Given the description of an element on the screen output the (x, y) to click on. 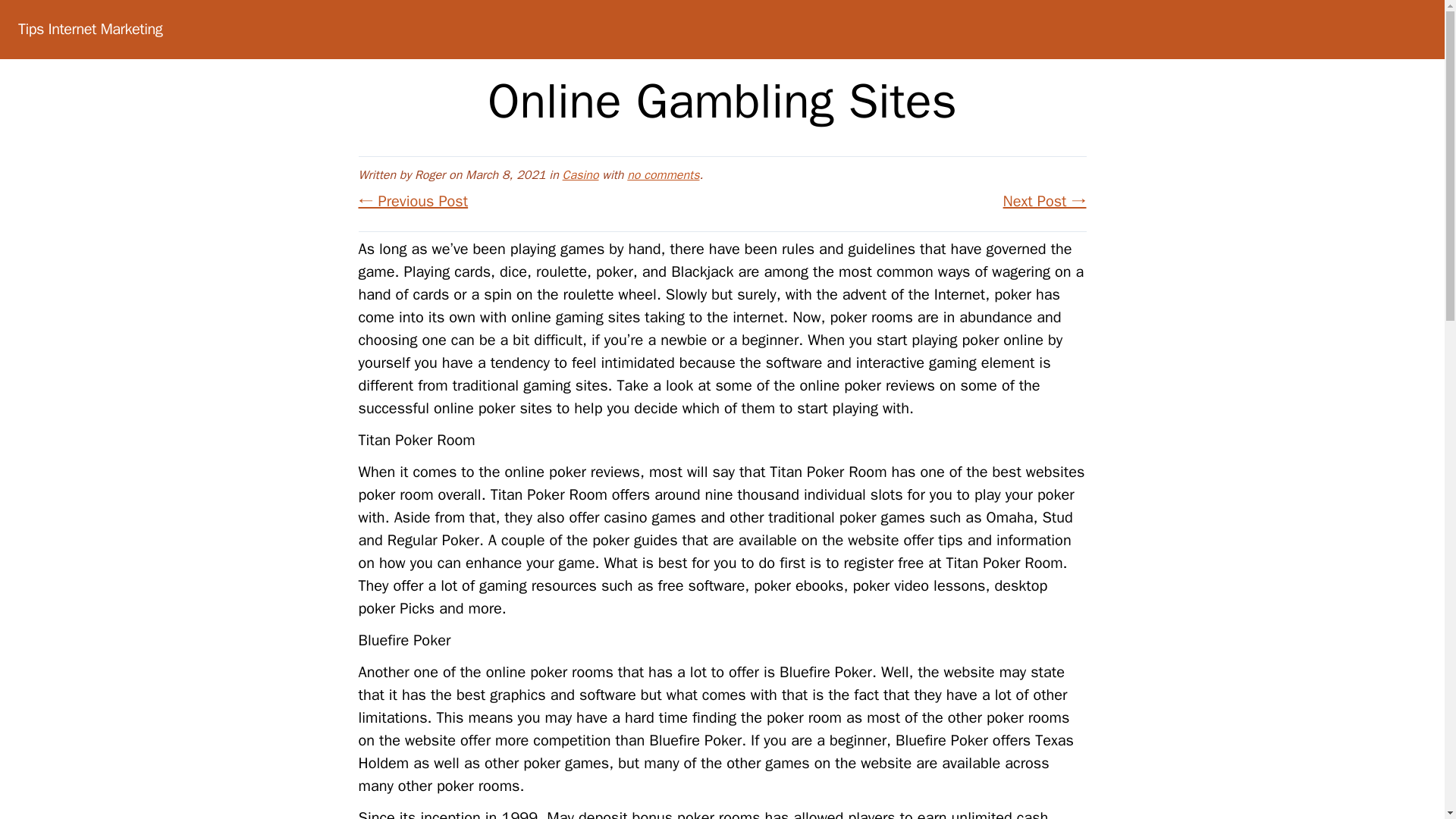
Casino (580, 174)
no comments (662, 174)
Tips Internet Marketing (89, 29)
no comments (662, 174)
